Given the description of an element on the screen output the (x, y) to click on. 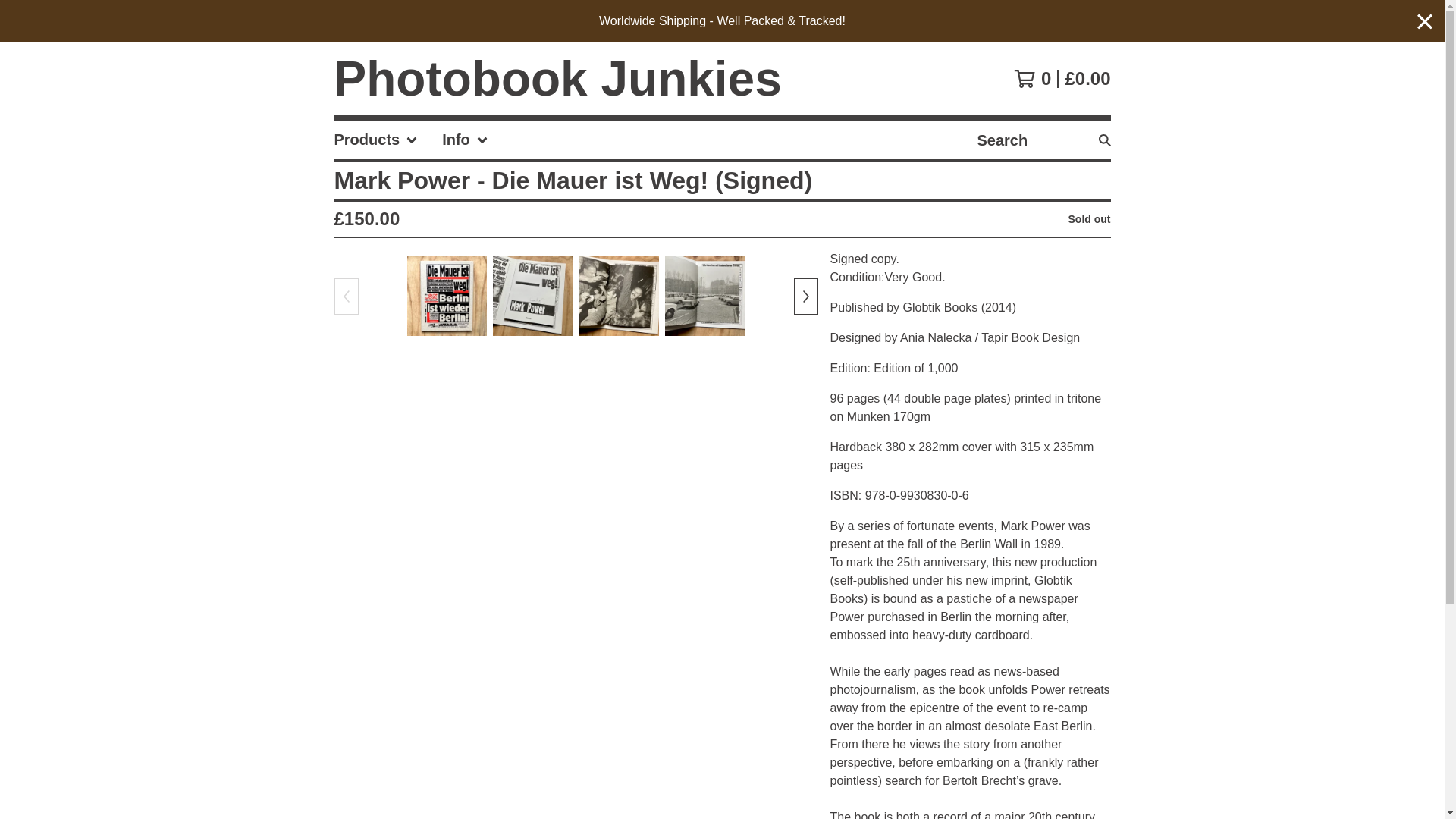
View cart (1061, 78)
Products (375, 139)
Info (464, 139)
Home (556, 78)
Photobook Junkies (556, 78)
